Given the description of an element on the screen output the (x, y) to click on. 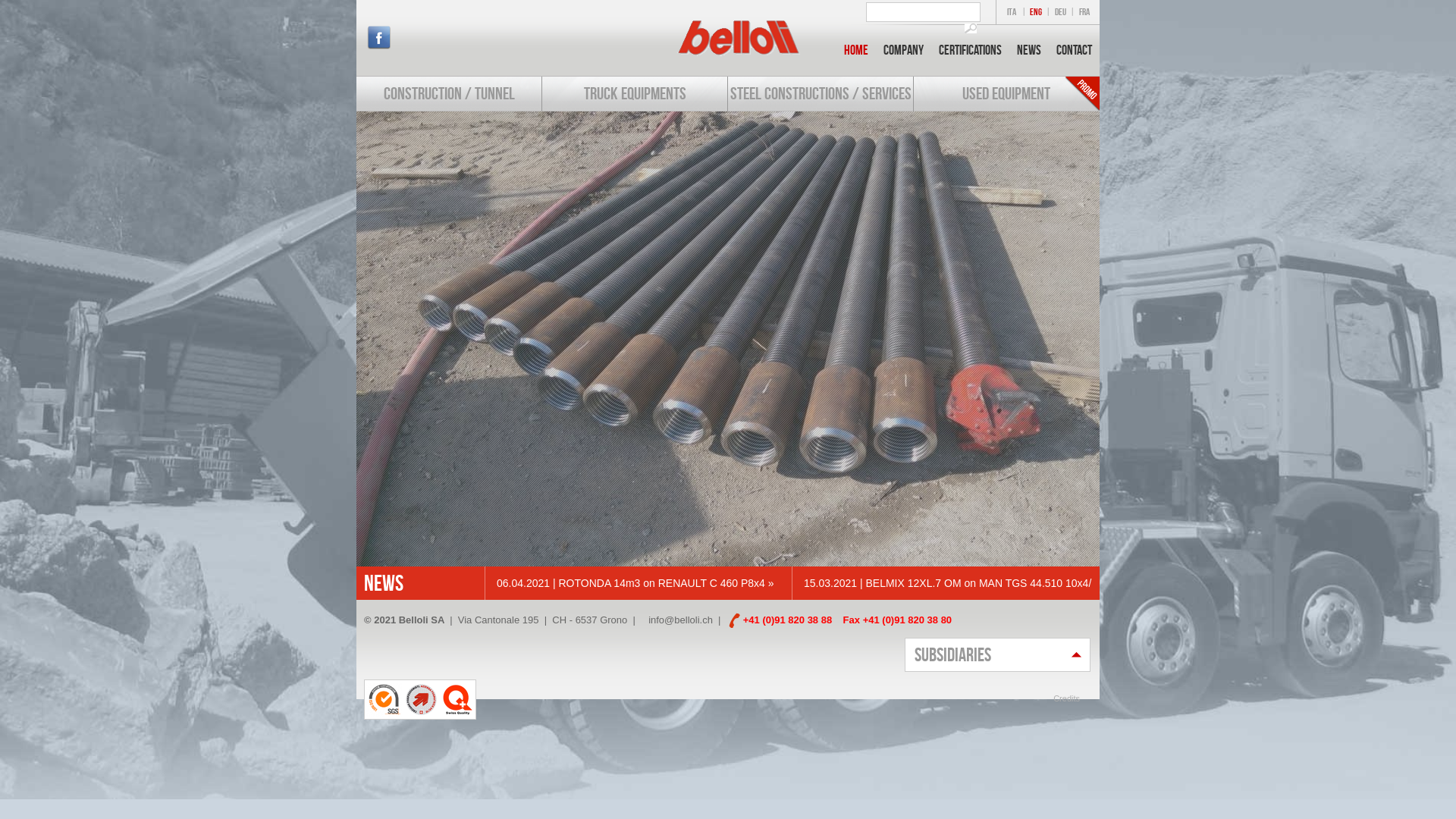
Home Element type: text (856, 49)
Contact Element type: text (1074, 49)
Certifications Element type: text (969, 49)
News Element type: text (1028, 49)
DEU Element type: text (1059, 11)
STEEL CONSTRUCTIONS / SERVICES Element type: text (819, 93)
ENG Element type: text (1035, 11)
USED EQUIPMENT Element type: text (1006, 93)
TRUCK EQUIPMENTS Element type: text (634, 93)
info@belloli.ch Element type: text (680, 619)
CONSTRUCTION / TUNNEL Element type: text (448, 93)
ITA Element type: text (1011, 11)
Company Element type: text (903, 49)
FRA Element type: text (1084, 11)
Credits Element type: text (1066, 697)
